Given the description of an element on the screen output the (x, y) to click on. 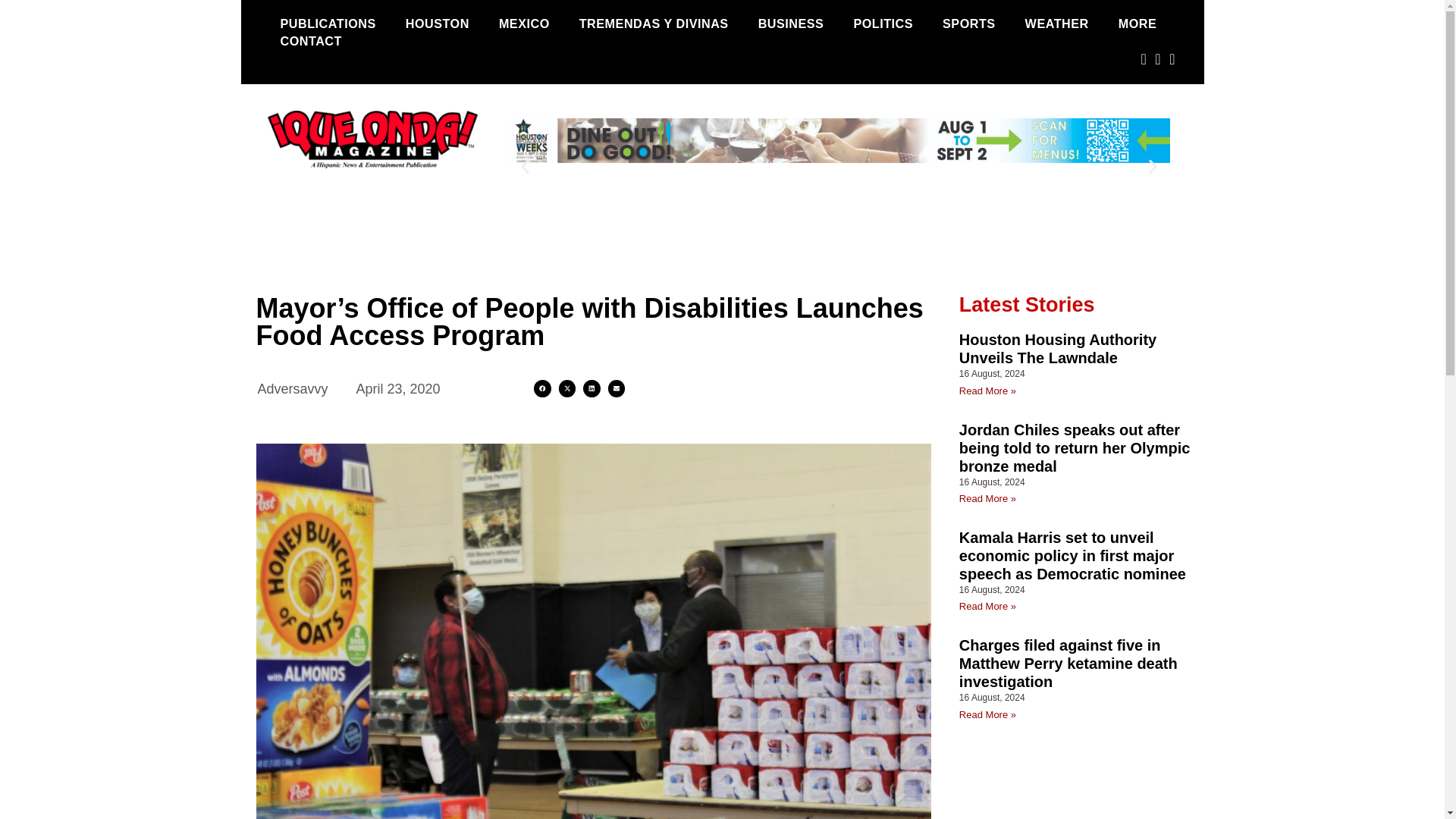
MORE (1137, 23)
Houston Housing Authority Unveils The Lawndale (1057, 348)
PUBLICATIONS (327, 23)
Adversavvy (293, 389)
BUSINESS (790, 23)
MEXICO (523, 23)
TREMENDAS Y DIVINAS (653, 23)
April 23, 2020 (398, 389)
POLITICS (882, 23)
WEATHER (1056, 23)
